Given the description of an element on the screen output the (x, y) to click on. 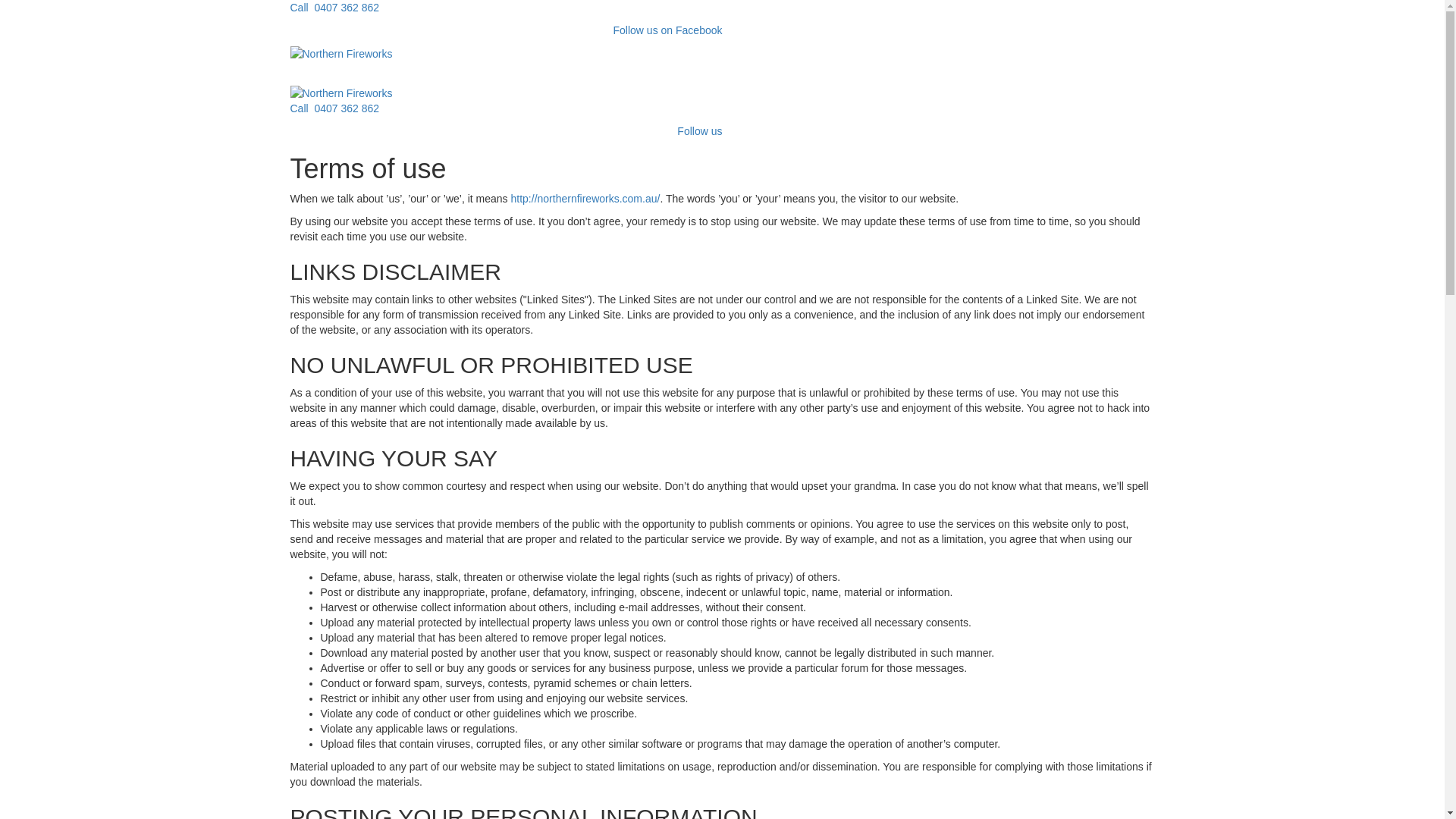
Call  0407 362 862 Element type: text (334, 108)
  Follow us on Facebook Element type: text (664, 30)
  Follow us Element type: text (696, 131)
http://northernfireworks.com.au/ Element type: text (585, 198)
Call  0407 362 862 Element type: text (334, 7)
